Given the description of an element on the screen output the (x, y) to click on. 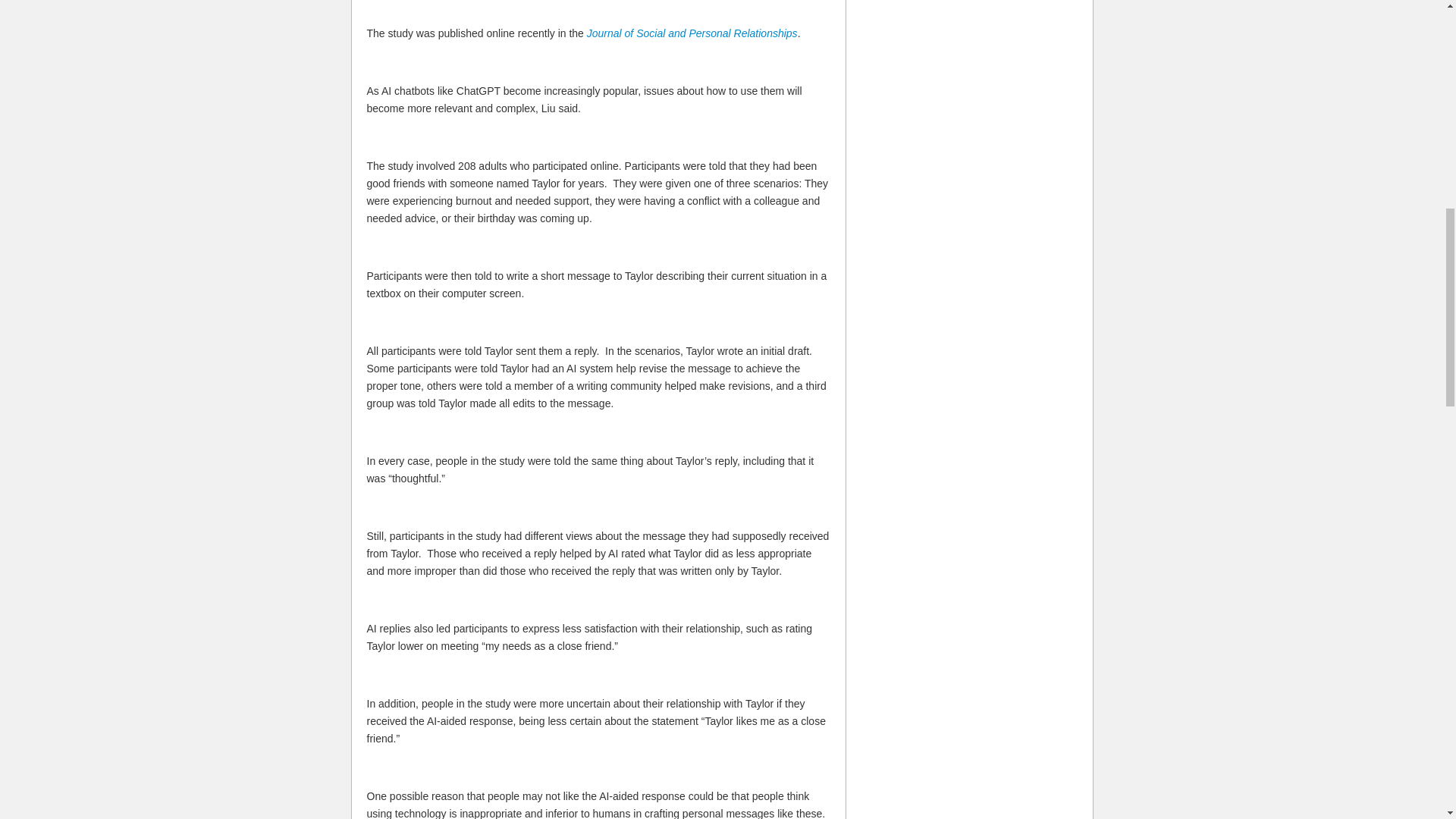
Journal of Social and Personal Relationships (691, 33)
